Given the description of an element on the screen output the (x, y) to click on. 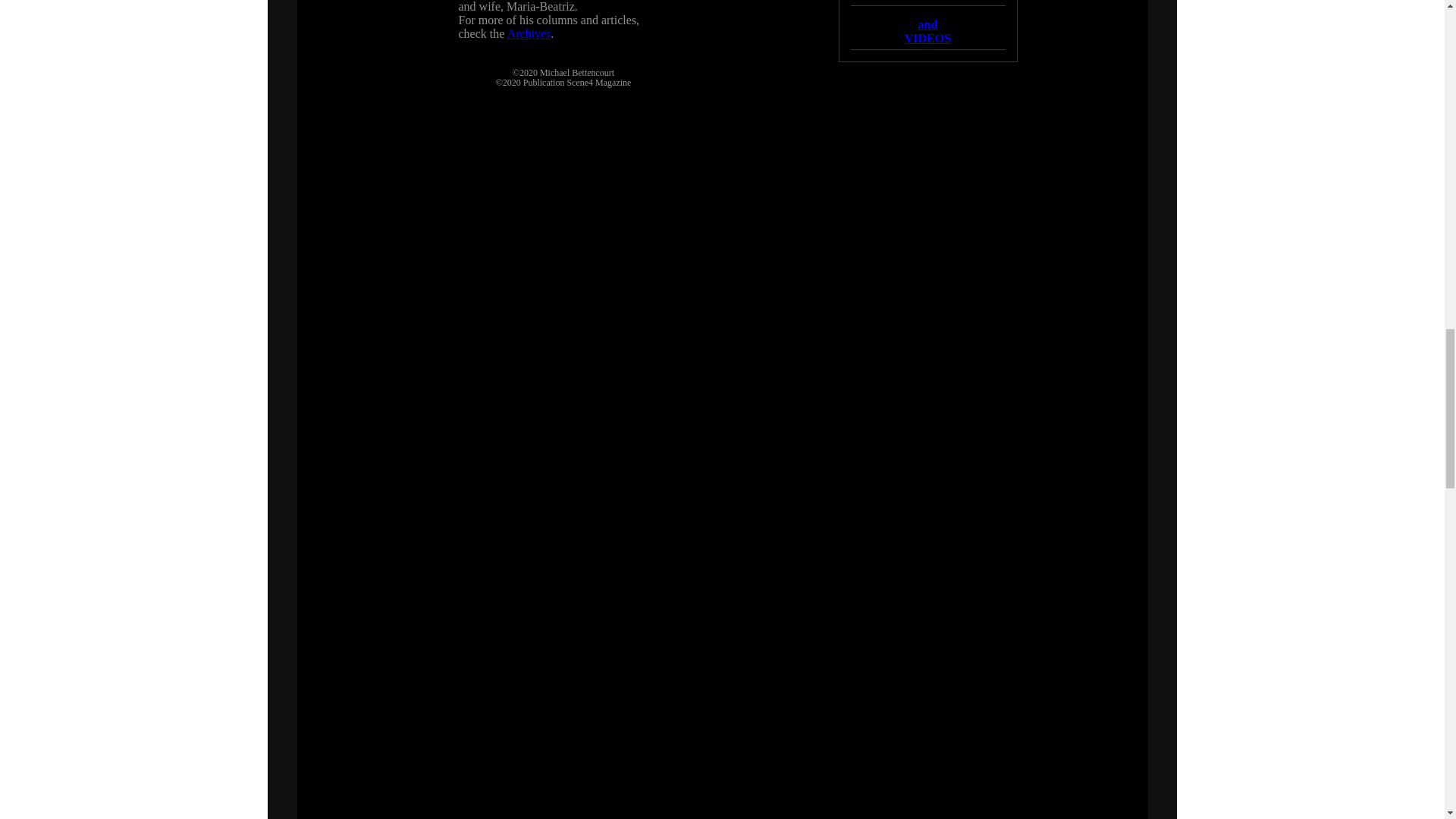
THEATRE THOUGHTS (927, 31)
